Given the description of an element on the screen output the (x, y) to click on. 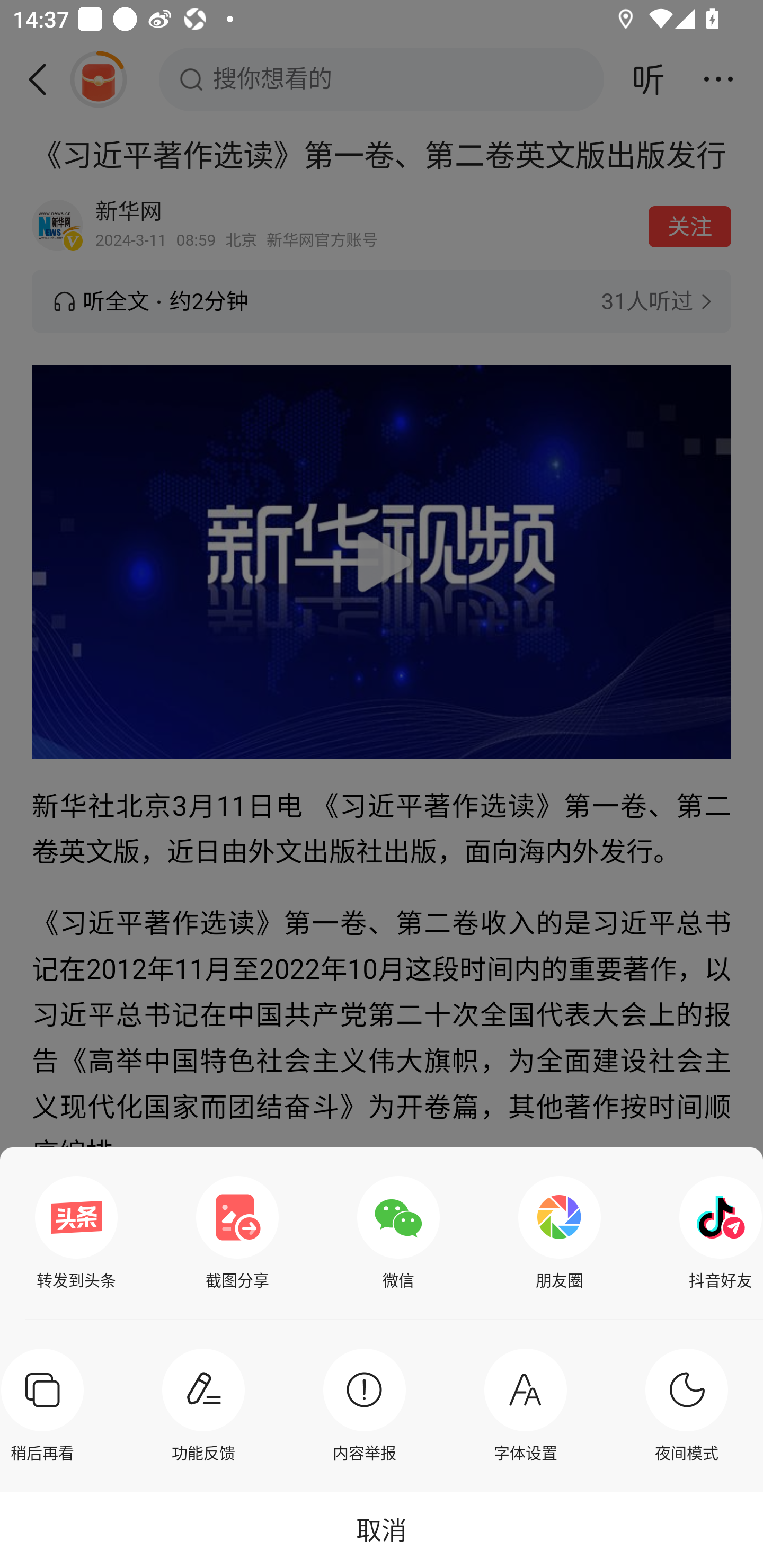
转发到头条 (76, 1232)
截图分享 (237, 1232)
微信 (398, 1232)
朋友圈 (559, 1232)
抖音好友 (716, 1232)
稍后再看 (46, 1405)
功能反馈 (203, 1405)
内容举报 (364, 1405)
字体设置 (525, 1405)
夜间模式 (686, 1405)
取消 (381, 1529)
